Given the description of an element on the screen output the (x, y) to click on. 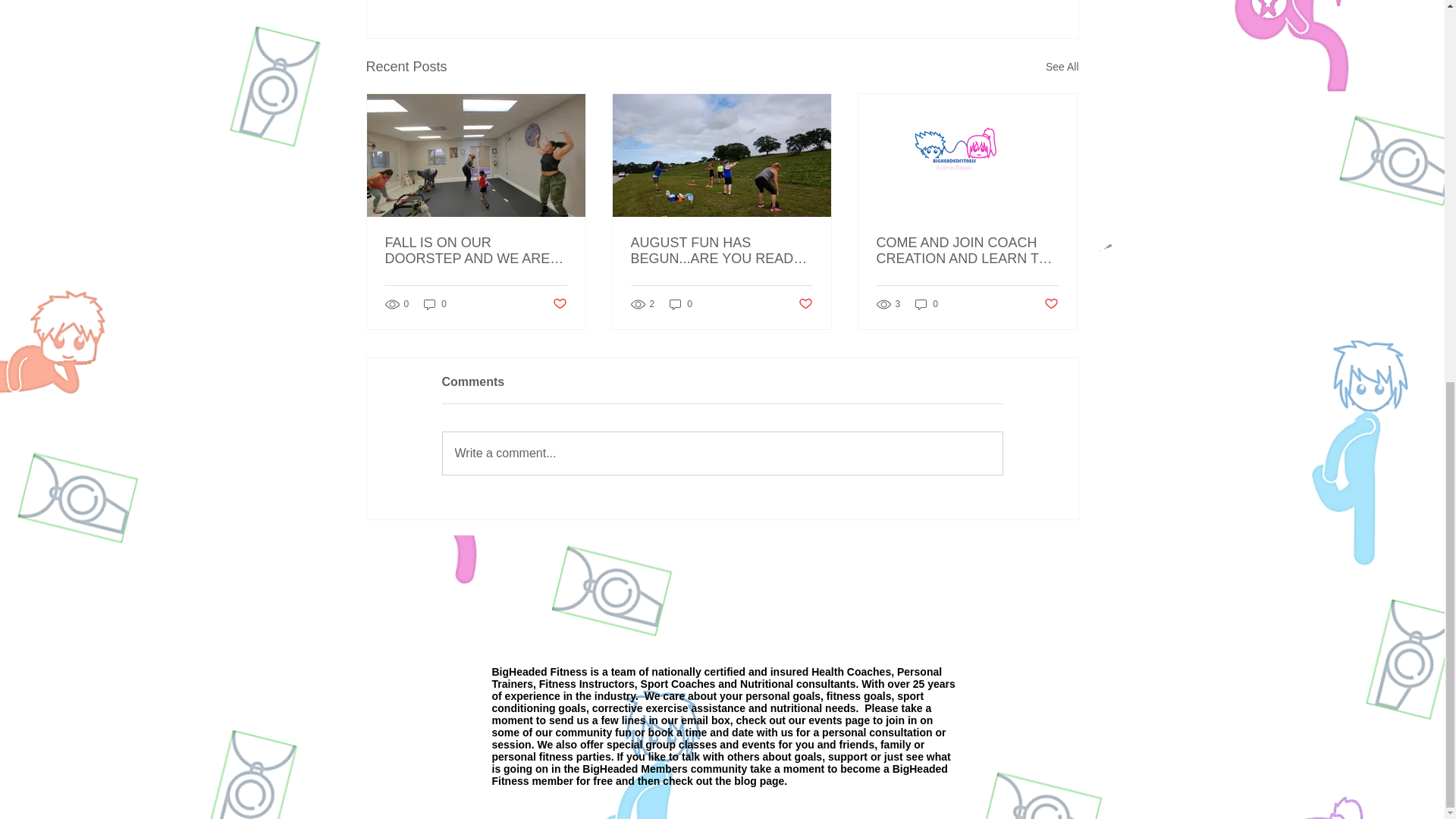
0 (681, 304)
Post not marked as liked (558, 303)
Post not marked as liked (1050, 303)
AUGUST FUN HAS BEGUN...ARE YOU READY FOR IT?? (721, 250)
Write a comment... (722, 453)
Post not marked as liked (804, 303)
FALL IS ON OUR DOORSTEP AND WE ARE EXCITED!! (476, 250)
0 (435, 304)
0 (926, 304)
See All (1061, 66)
